Given the description of an element on the screen output the (x, y) to click on. 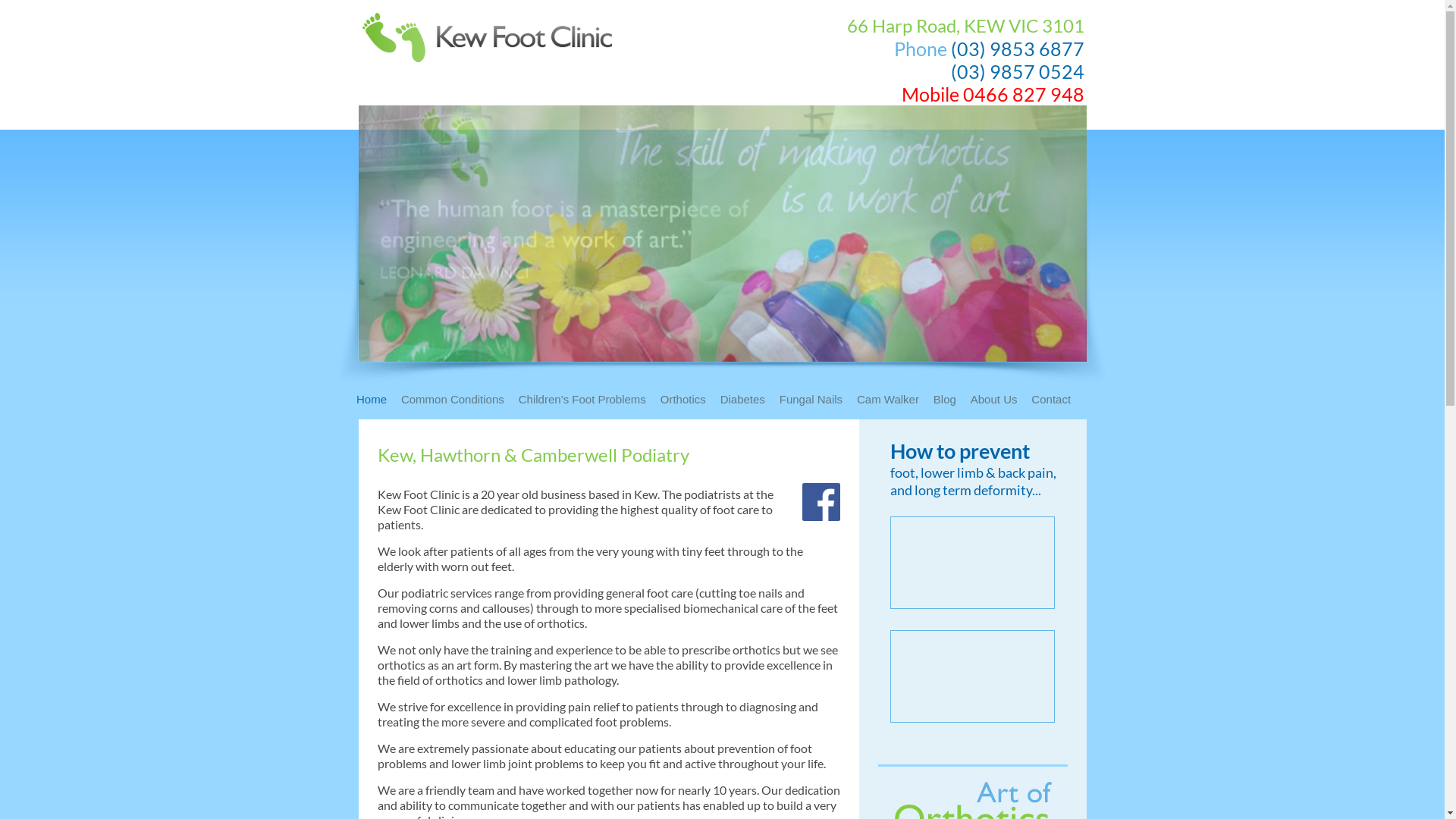
Blog Element type: text (950, 403)
Diabetes Element type: text (748, 403)
(03) 9857 0524 Element type: text (1017, 70)
Cam Walker Element type: text (893, 403)
Contact Element type: text (1056, 403)
Home Element type: text (377, 403)
0466 827 948 Element type: text (1023, 93)
Kew Foot Clinic Element type: text (488, 45)
Common Conditions Element type: text (458, 403)
Fungal Nails Element type: text (816, 403)
About Us Element type: text (999, 403)
(03) 9853 6877 Element type: text (1017, 48)
Orthotics Element type: text (688, 403)
